Given the description of an element on the screen output the (x, y) to click on. 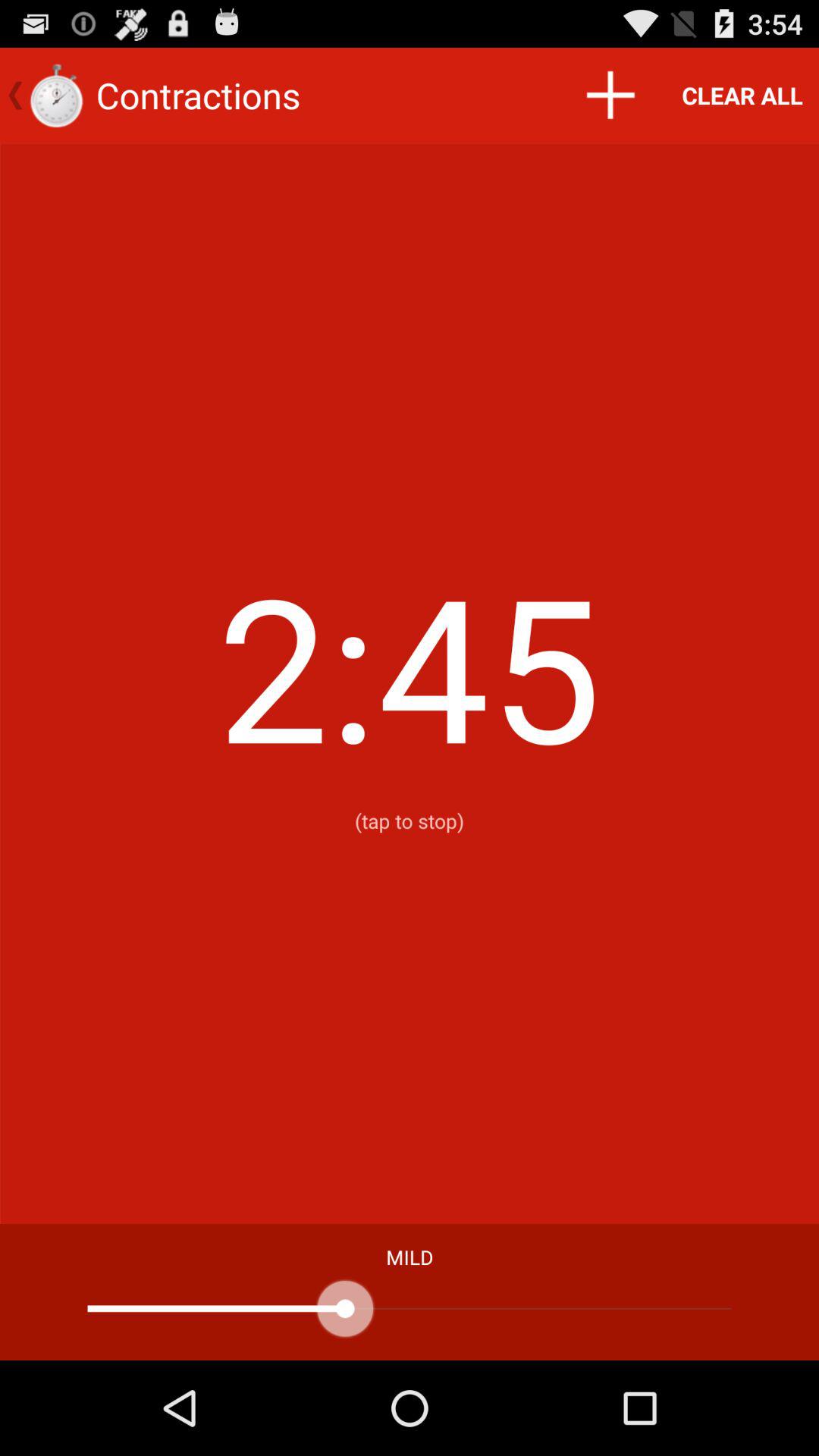
select item to the left of clear all item (610, 95)
